Given the description of an element on the screen output the (x, y) to click on. 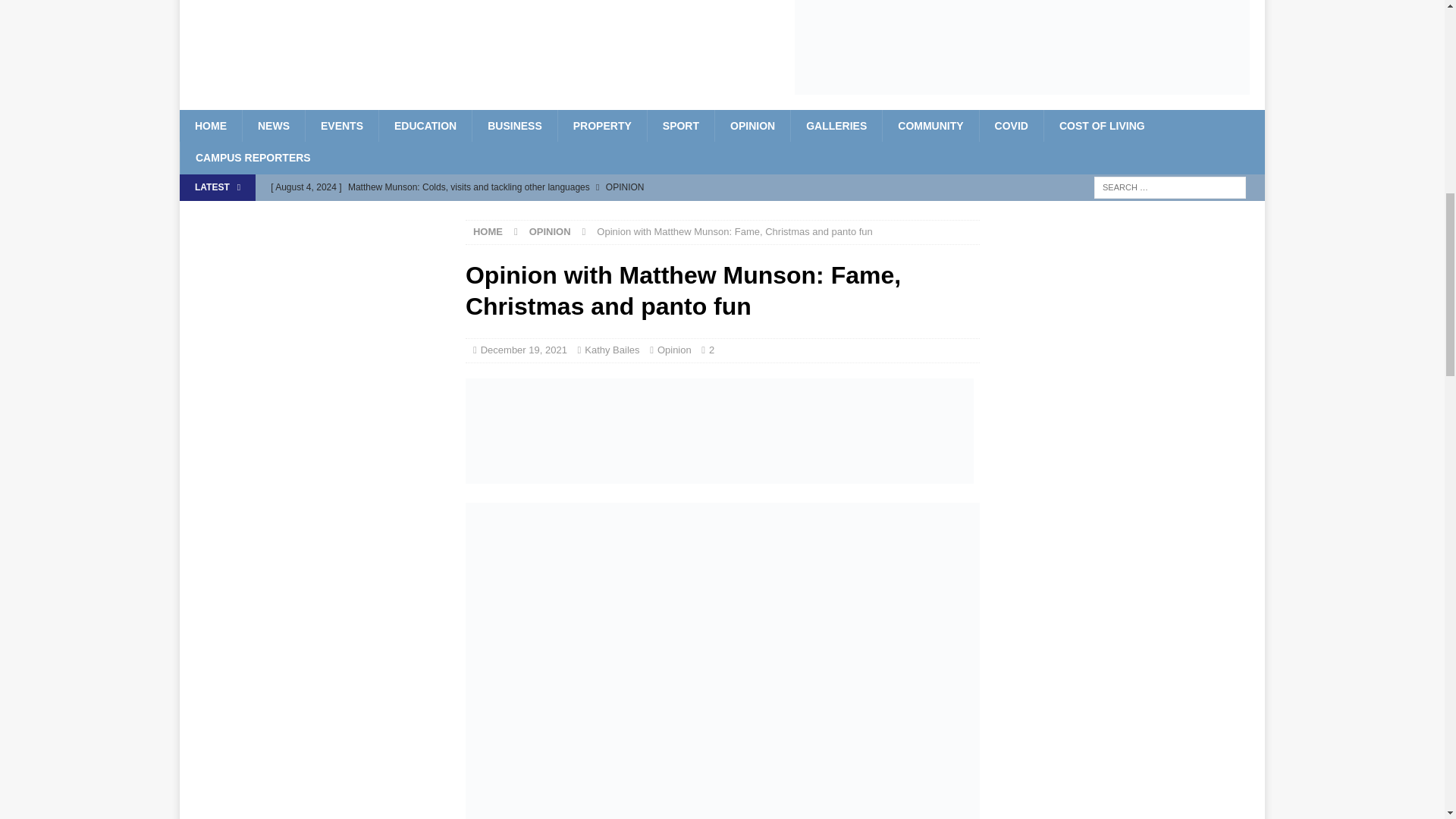
GALLERIES (836, 125)
BUSINESS (514, 125)
NEWS (272, 125)
COMMUNITY (930, 125)
SPORT (680, 125)
EVENTS (341, 125)
COVID (1010, 125)
PROPERTY (601, 125)
CAMPUS REPORTERS (252, 157)
EDUCATION (424, 125)
OPINION (752, 125)
HOME (210, 125)
COST OF LIVING (1101, 125)
2 (711, 349)
